Given the description of an element on the screen output the (x, y) to click on. 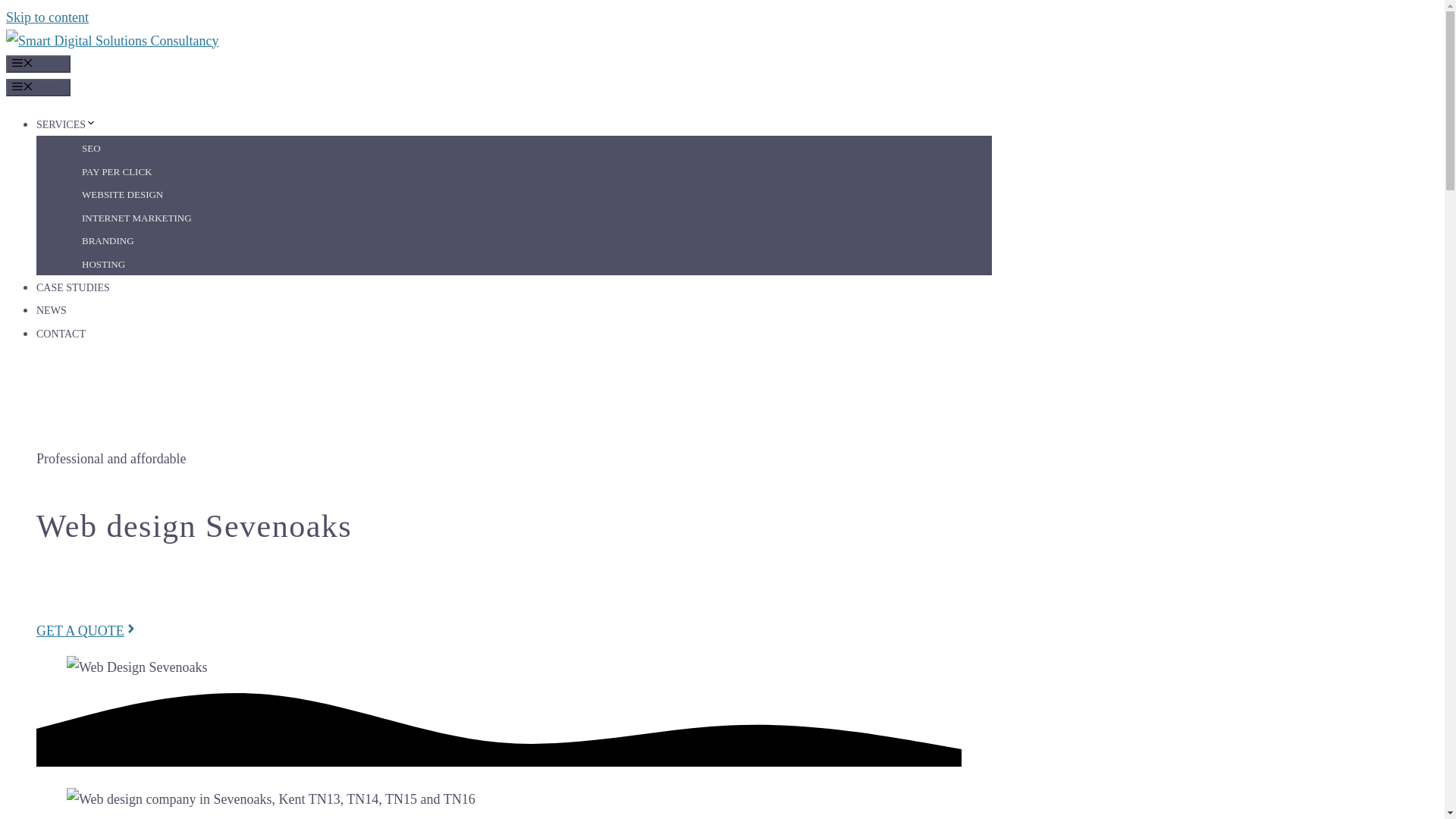
GET A QUOTE (87, 630)
HOSTING (102, 263)
PAY PER CLICK (116, 171)
Skip to content (46, 17)
Skip to content (46, 17)
CONTACT (60, 333)
WEBSITE DESIGN (121, 194)
NEWS (51, 310)
MENU (37, 87)
MENU (37, 63)
CASE STUDIES (73, 287)
SERVICES (66, 124)
INTERNET MARKETING (136, 217)
BRANDING (107, 240)
SEO (91, 148)
